Given the description of an element on the screen output the (x, y) to click on. 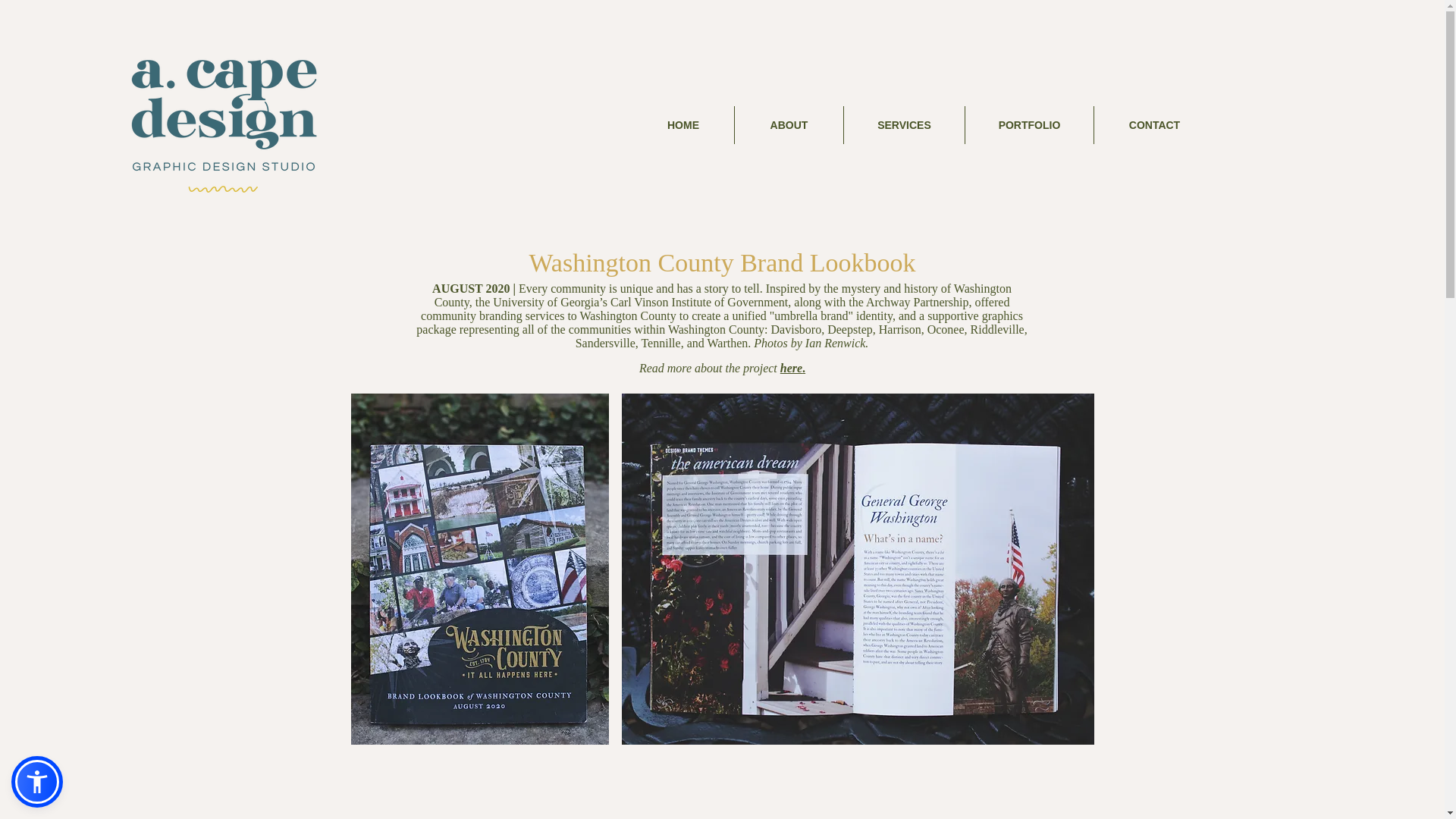
CONTACT (1153, 125)
SERVICES (903, 125)
ABOUT (788, 125)
here. (792, 367)
Open Accessibility Menu (36, 781)
PORTFOLIO (1028, 125)
HOME (682, 125)
